Given the description of an element on the screen output the (x, y) to click on. 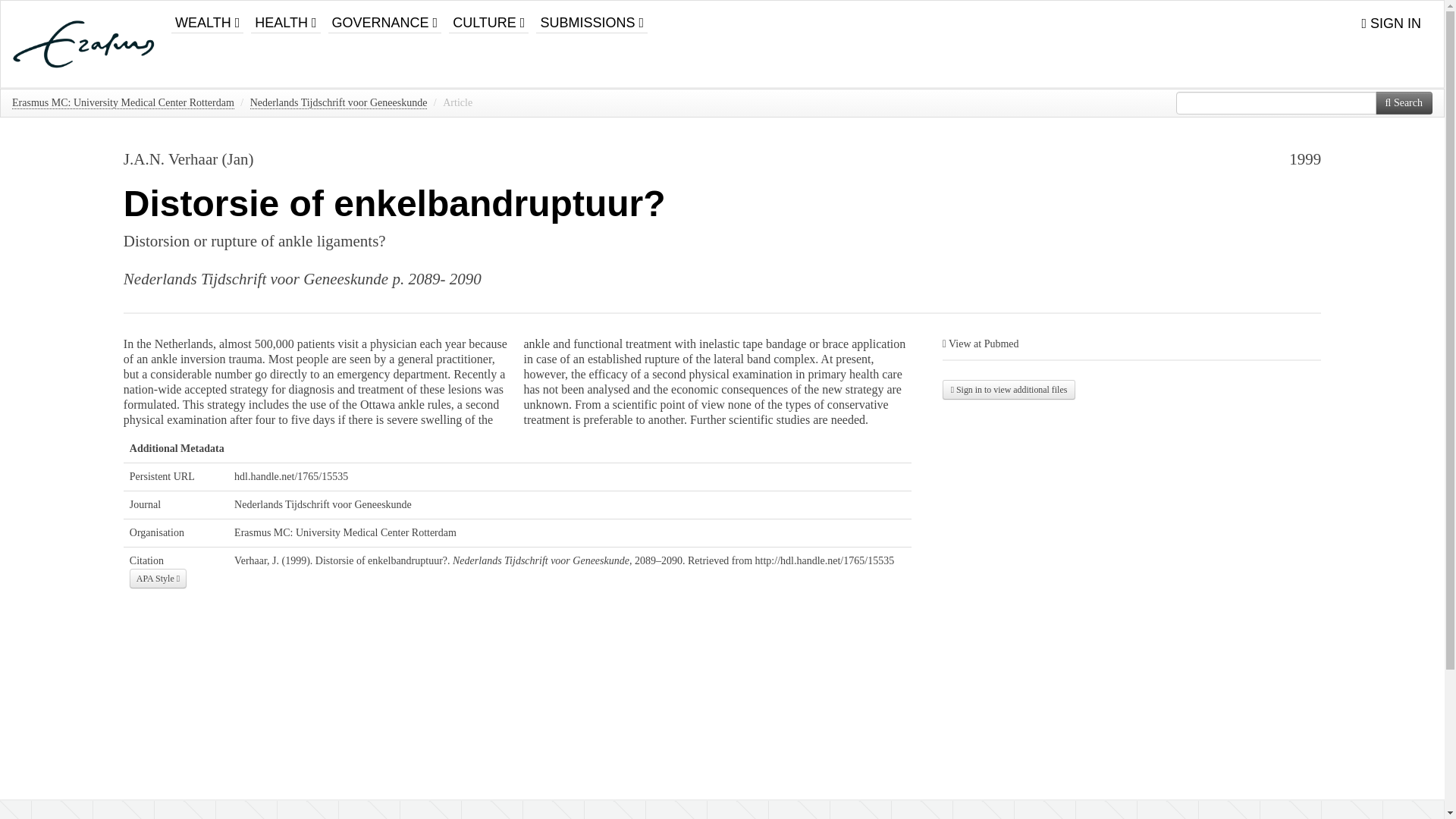
Nederlands Tijdschrift voor Geneeskunde (323, 504)
GOVERNANCE (385, 16)
SIGN IN (1391, 23)
Search (1403, 102)
SUBMISSIONS (591, 16)
HEALTH (285, 16)
Nederlands Tijdschrift voor Geneeskunde (339, 102)
WEALTH (207, 16)
Nederlands Tijdschrift voor Geneeskunde (255, 279)
Erasmus MC: University Medical Center Rotterdam (345, 532)
